Given the description of an element on the screen output the (x, y) to click on. 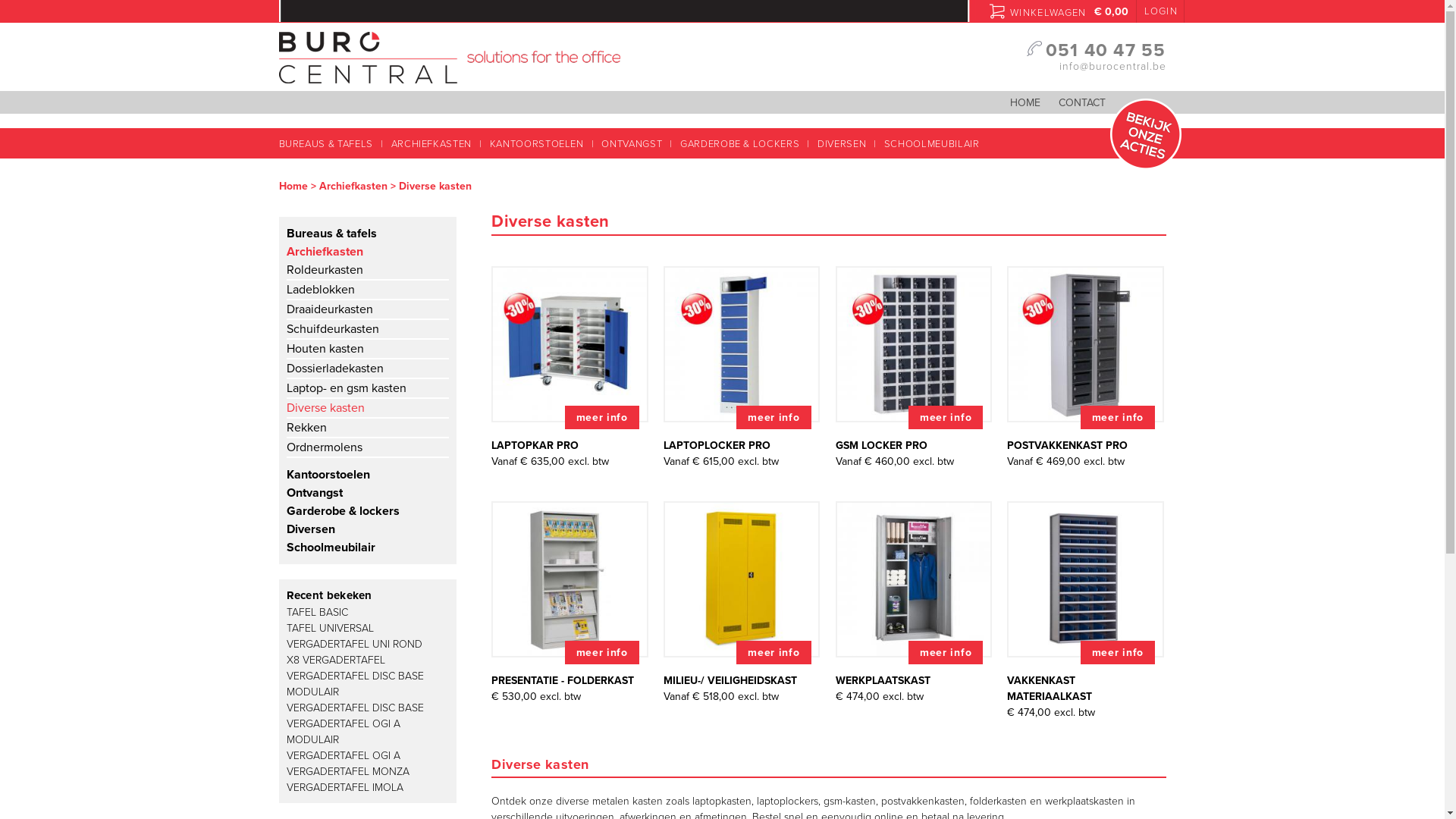
meer info Element type: text (945, 652)
Overslaan en naar de algemene inhoud gaan Element type: text (697, 1)
Laptop- en gsm kasten Element type: text (346, 387)
meer info Element type: text (1117, 652)
BUREAUS & TAFELS Element type: text (331, 143)
Garderobe & lockers Element type: text (342, 510)
LOGIN Element type: text (1159, 11)
SCHOOLMEUBILAIR Element type: text (927, 143)
VERGADERTAFEL DISC BASE Element type: text (354, 706)
meer info Element type: text (1117, 417)
info@burocentral.be Element type: text (1112, 65)
meer info Element type: text (945, 417)
GARDEROBE & LOCKERS Element type: text (740, 143)
TAFEL UNIVERSAL Element type: text (329, 627)
CONTACT Element type: text (1081, 102)
Bureaus & tafels Element type: text (331, 233)
KANTOORSTOELEN Element type: text (538, 143)
DIVERSEN Element type: text (842, 143)
Dossierladekasten Element type: text (334, 368)
Schoolmeubilair Element type: text (330, 547)
Houten kasten Element type: text (325, 348)
VERGADERTAFEL DISC BASE MODULAIR Element type: text (354, 682)
Archiefkasten Element type: text (324, 251)
Ladeblokken Element type: text (320, 289)
WINKELWAGEN Element type: text (1037, 10)
Diversen Element type: text (310, 528)
Ordnermolens Element type: text (324, 447)
meer info Element type: text (773, 652)
TAFEL BASIC Element type: text (317, 611)
Roldeurkasten Element type: text (324, 269)
VERGADERTAFEL UNI ROND Element type: text (354, 643)
VERGADERTAFEL MONZA Element type: text (347, 770)
VERGADERTAFEL OGI A Element type: text (343, 755)
Home Element type: text (293, 185)
ACTIES Element type: text (1145, 133)
Ontvangst Element type: text (314, 492)
meer info Element type: text (601, 652)
meer info Element type: text (773, 417)
Diverse kasten Element type: text (325, 407)
Kantoorstoelen Element type: text (328, 474)
ONTVANGST Element type: text (632, 143)
X8 VERGADERTAFEL Element type: text (335, 659)
VERGADERTAFEL IMOLA Element type: text (344, 787)
BUROcentral | Kantoormeubelen Element type: hover (449, 75)
Schuifdeurkasten Element type: text (332, 328)
meer info Element type: text (601, 417)
Draaideurkasten Element type: text (329, 308)
Archiefkasten Element type: text (352, 185)
ARCHIEFKASTEN Element type: text (432, 143)
Rekken Element type: text (306, 427)
VERGADERTAFEL OGI A MODULAIR Element type: text (343, 731)
HOME Element type: text (1025, 102)
